Given the description of an element on the screen output the (x, y) to click on. 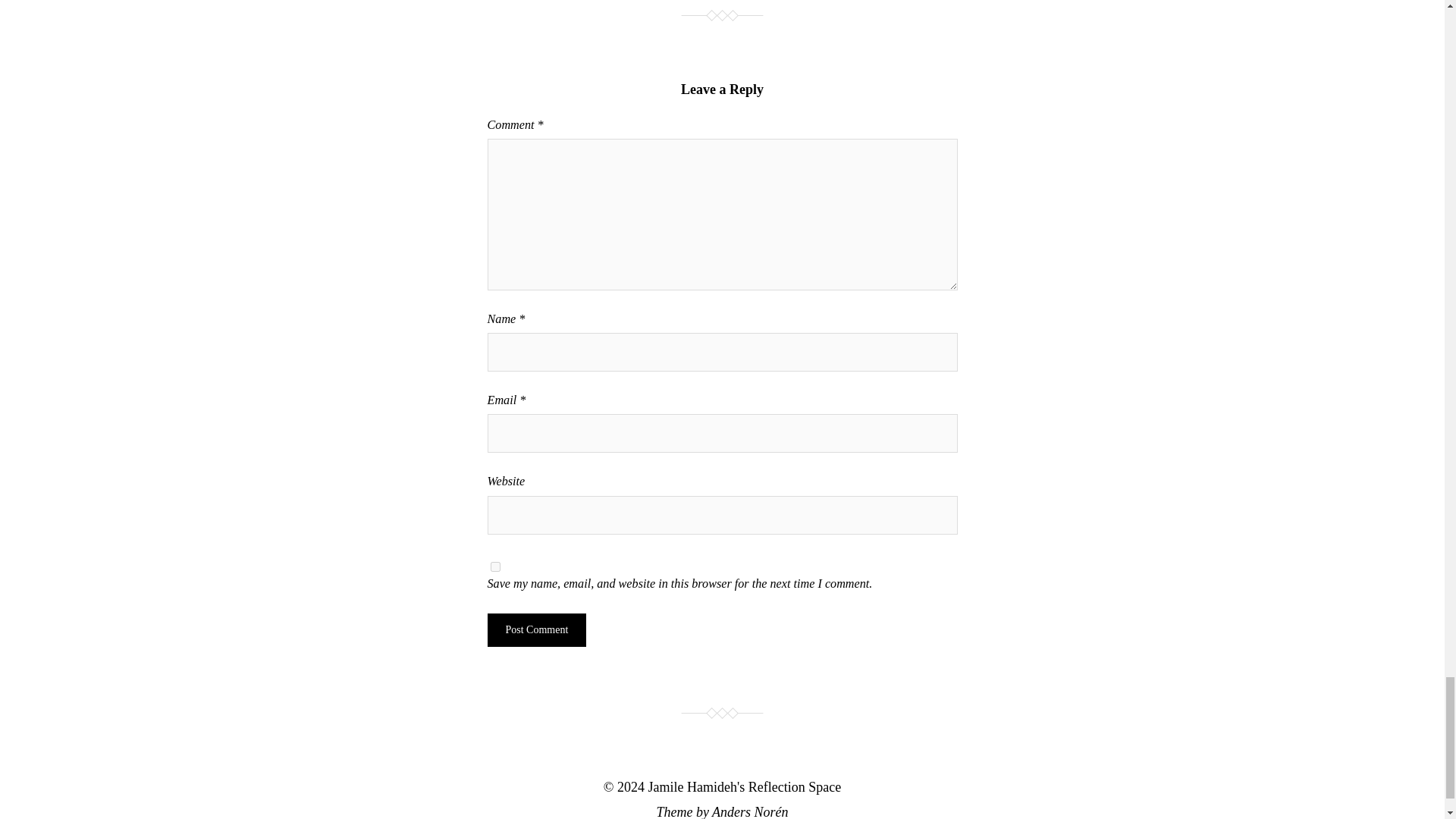
yes (494, 566)
Post Comment (536, 630)
Jamile Hamideh's Reflection Space (744, 786)
Post Comment (536, 630)
